Given the description of an element on the screen output the (x, y) to click on. 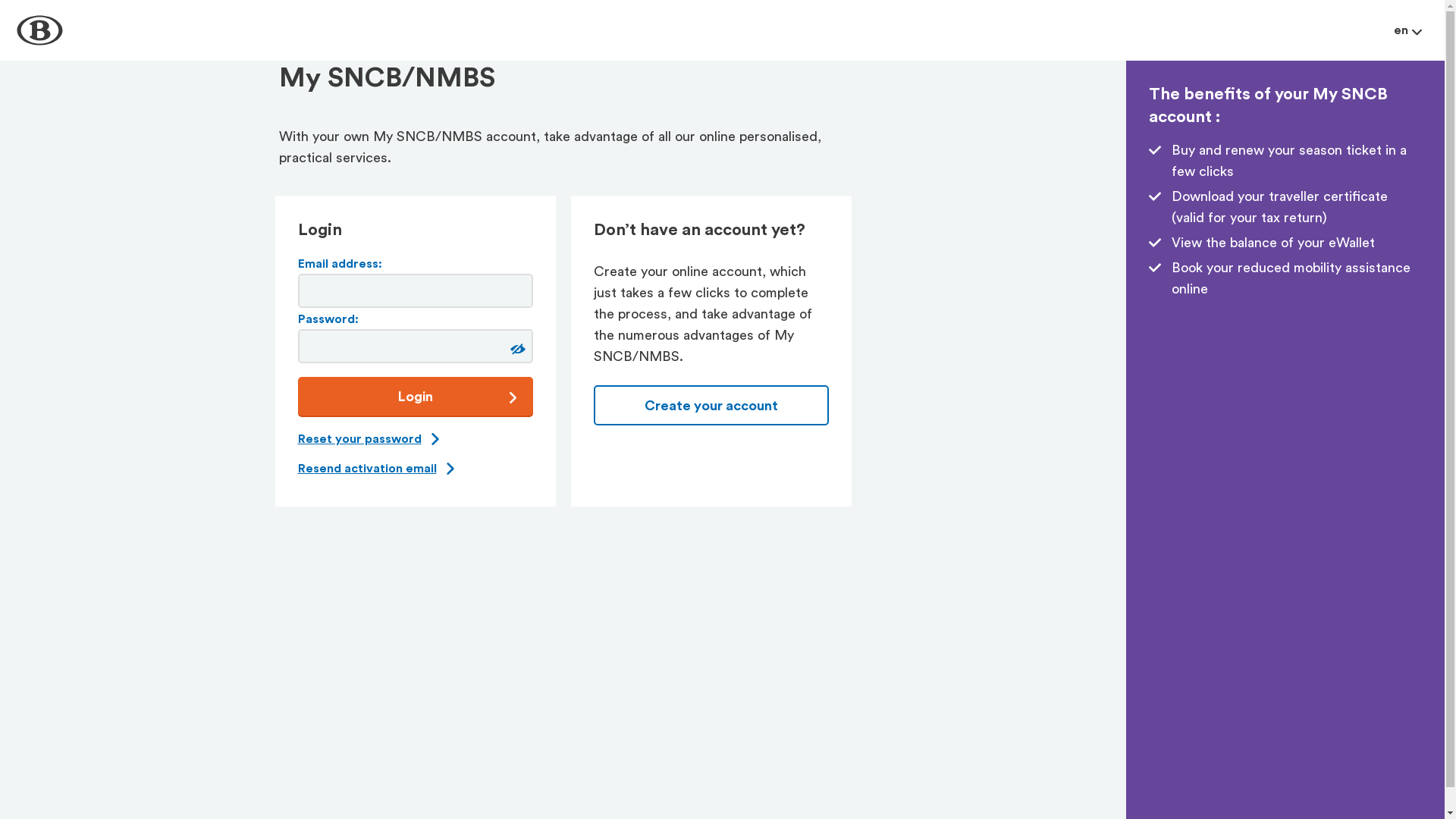
Reset your password Element type: text (358, 439)
Create your account Element type: text (710, 405)
Home NMBS Element type: text (39, 30)
Show password Element type: hover (515, 348)
Login Element type: text (414, 395)
Resend activation email Element type: text (366, 468)
en Element type: text (1407, 30)
